Given the description of an element on the screen output the (x, y) to click on. 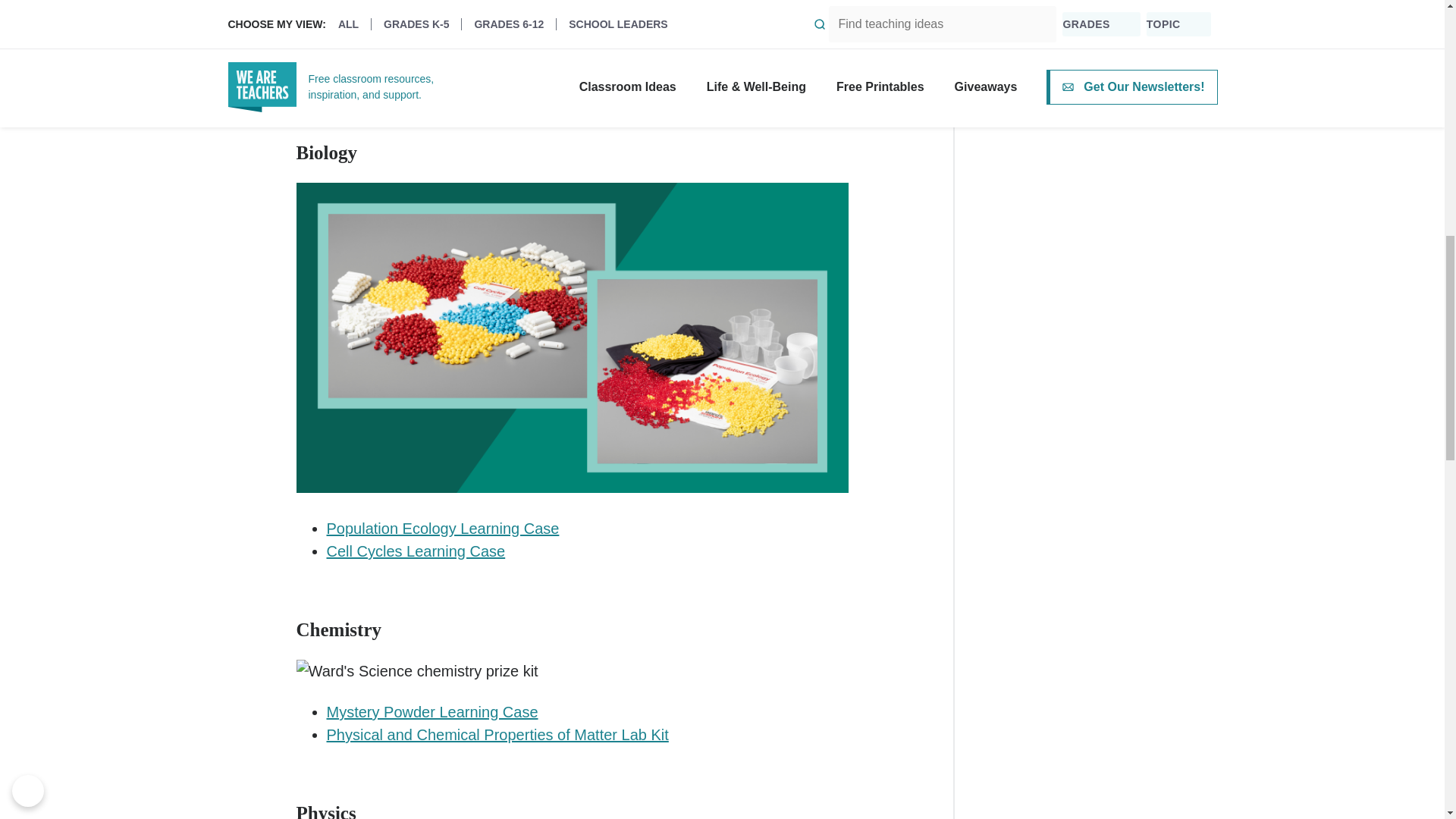
Mystery Powder Learning Case (431, 711)
Physical and Chemical Properties of Matter Lab Kit (497, 734)
Cell Cycles Learning Case (415, 550)
Population Ecology Learning Case (442, 528)
Enter now! (571, 60)
